Given the description of an element on the screen output the (x, y) to click on. 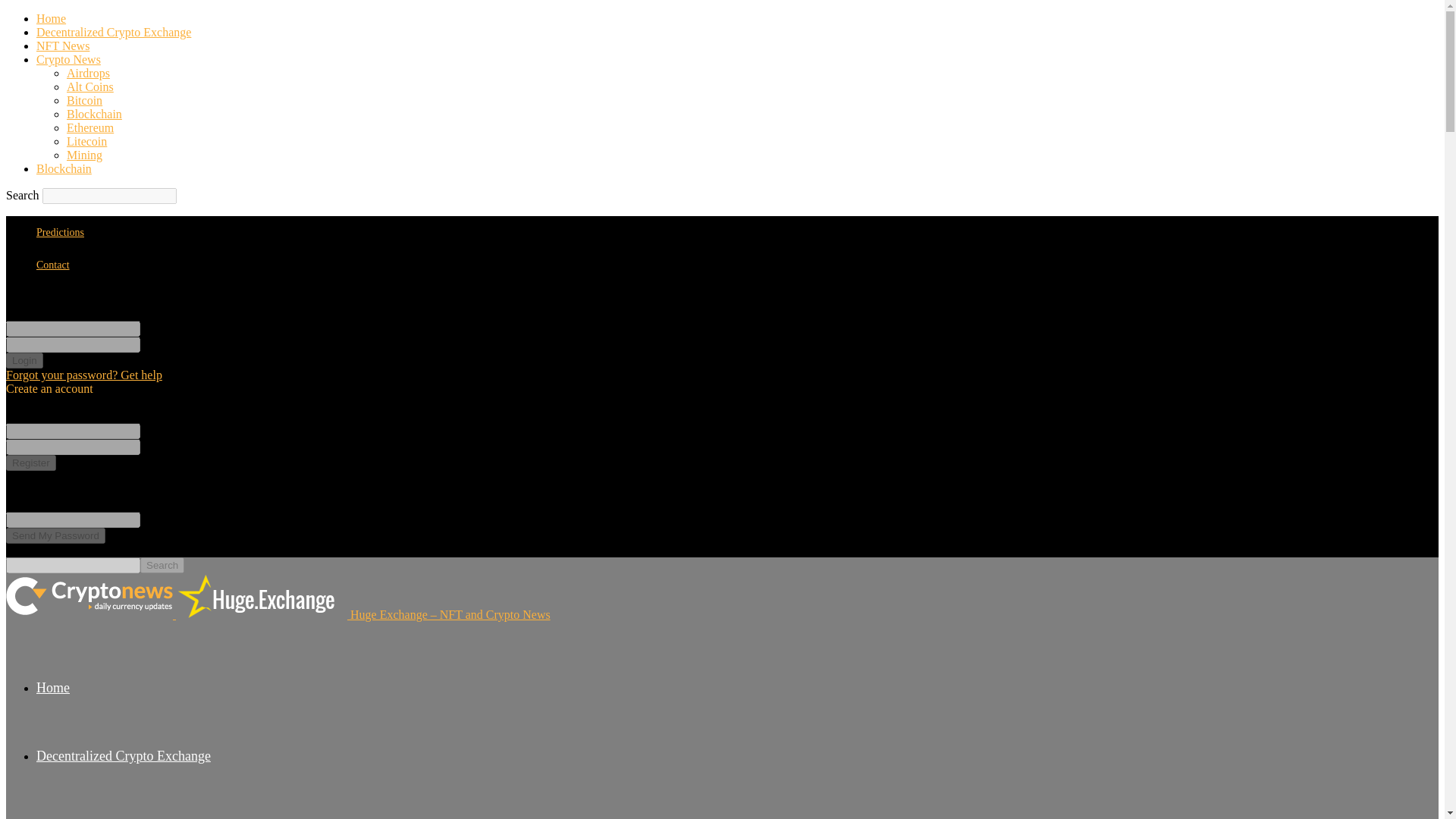
Mining (83, 154)
Litecoin (86, 141)
Create an account (49, 388)
Blockchain (63, 168)
Send My Password (54, 535)
Decentralized Crypto Exchange (113, 31)
Search (161, 565)
Predictions (60, 232)
Crypto News (68, 59)
Decentralized Crypto Exchange (123, 755)
